Given the description of an element on the screen output the (x, y) to click on. 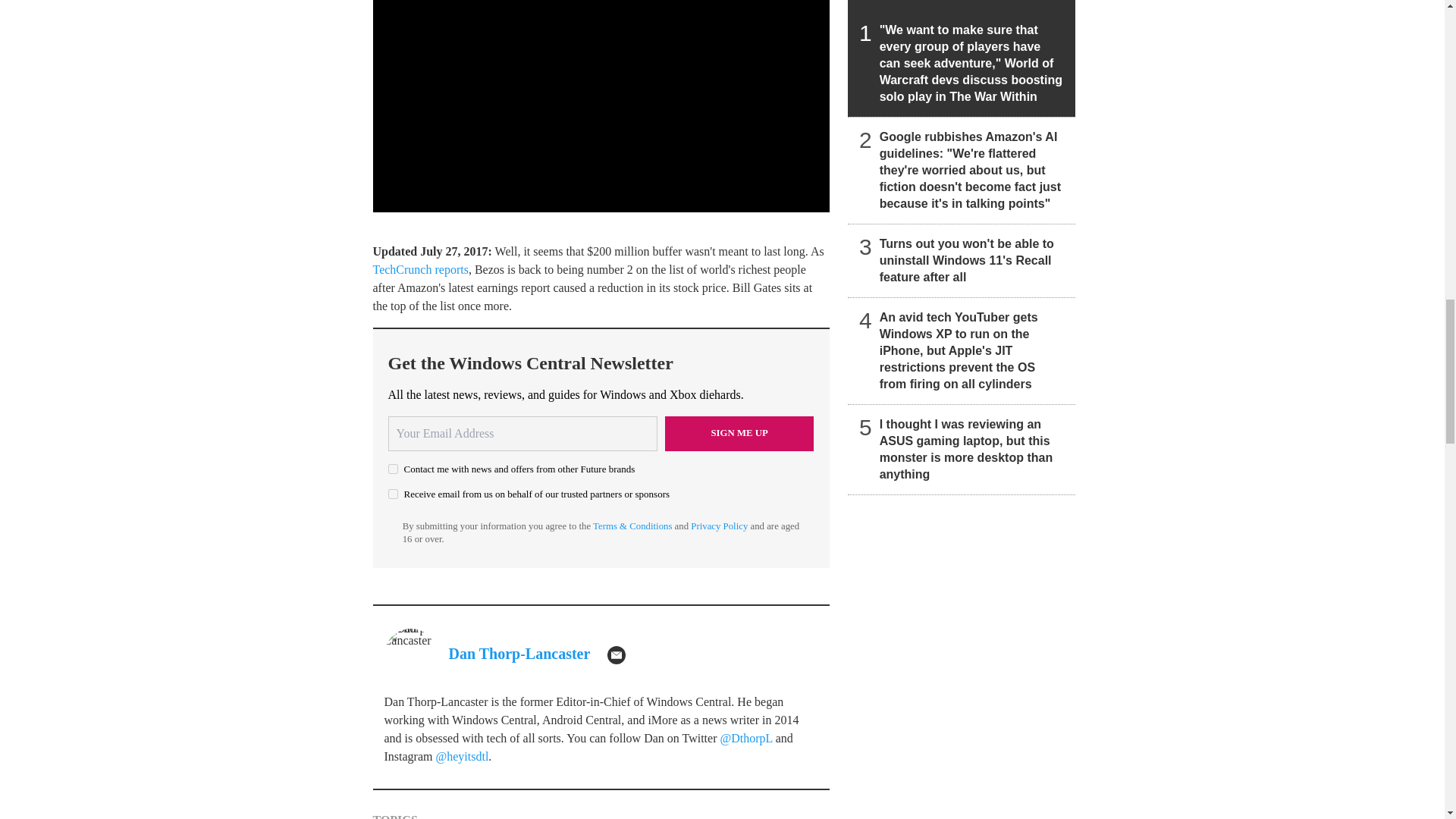
Privacy Policy (719, 525)
on (392, 493)
Sign me up (739, 433)
Dan Thorp-Lancaster (519, 653)
on (392, 469)
Sign me up (739, 433)
TechCrunch reports (420, 269)
